Given the description of an element on the screen output the (x, y) to click on. 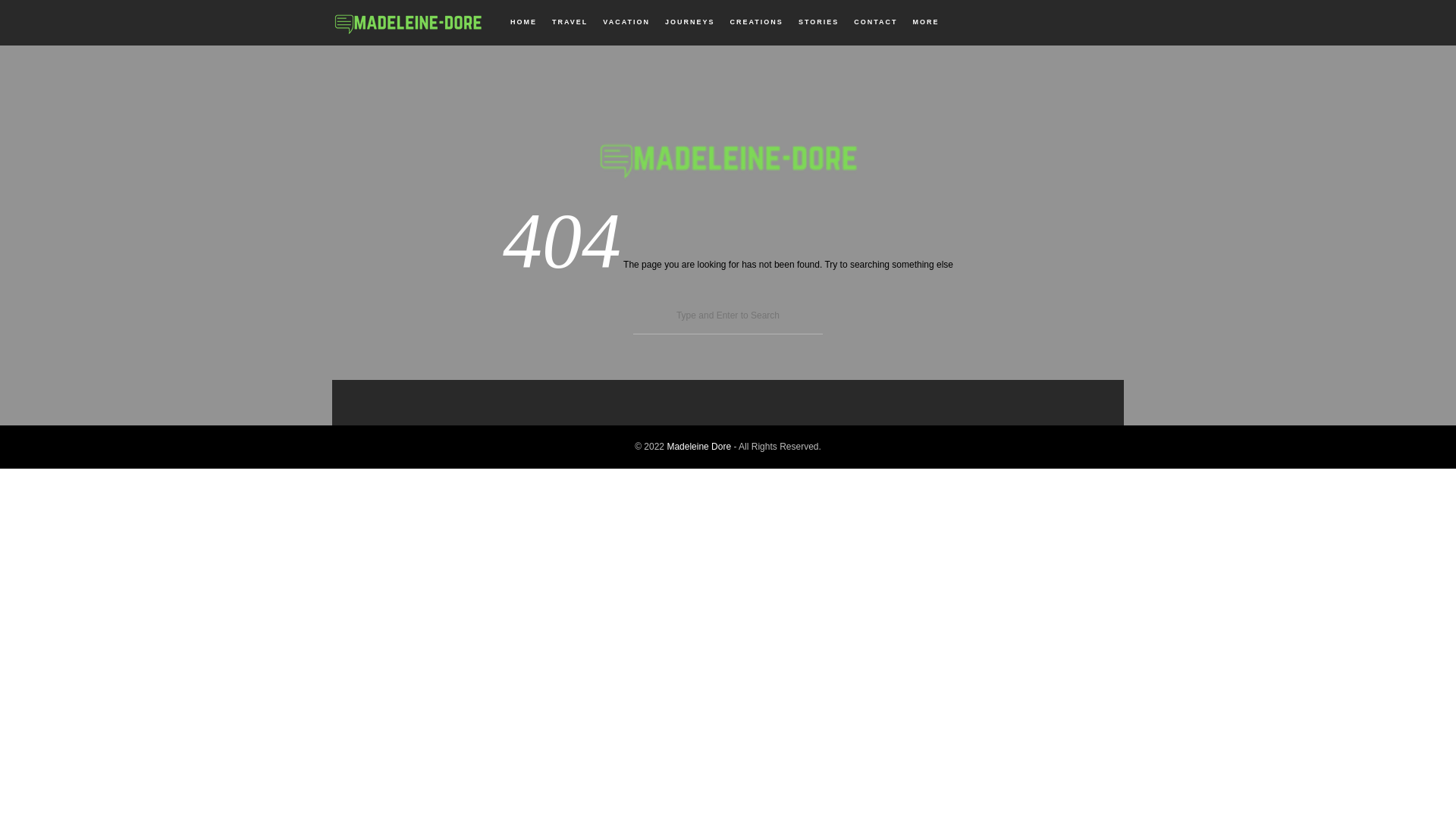
JOURNEYS (690, 22)
Madeleine Dore (698, 446)
MORE (925, 22)
STORIES (818, 22)
VACATION (625, 22)
TRAVEL (569, 22)
CONTACT (875, 22)
HOME (523, 22)
CREATIONS (756, 22)
